Given the description of an element on the screen output the (x, y) to click on. 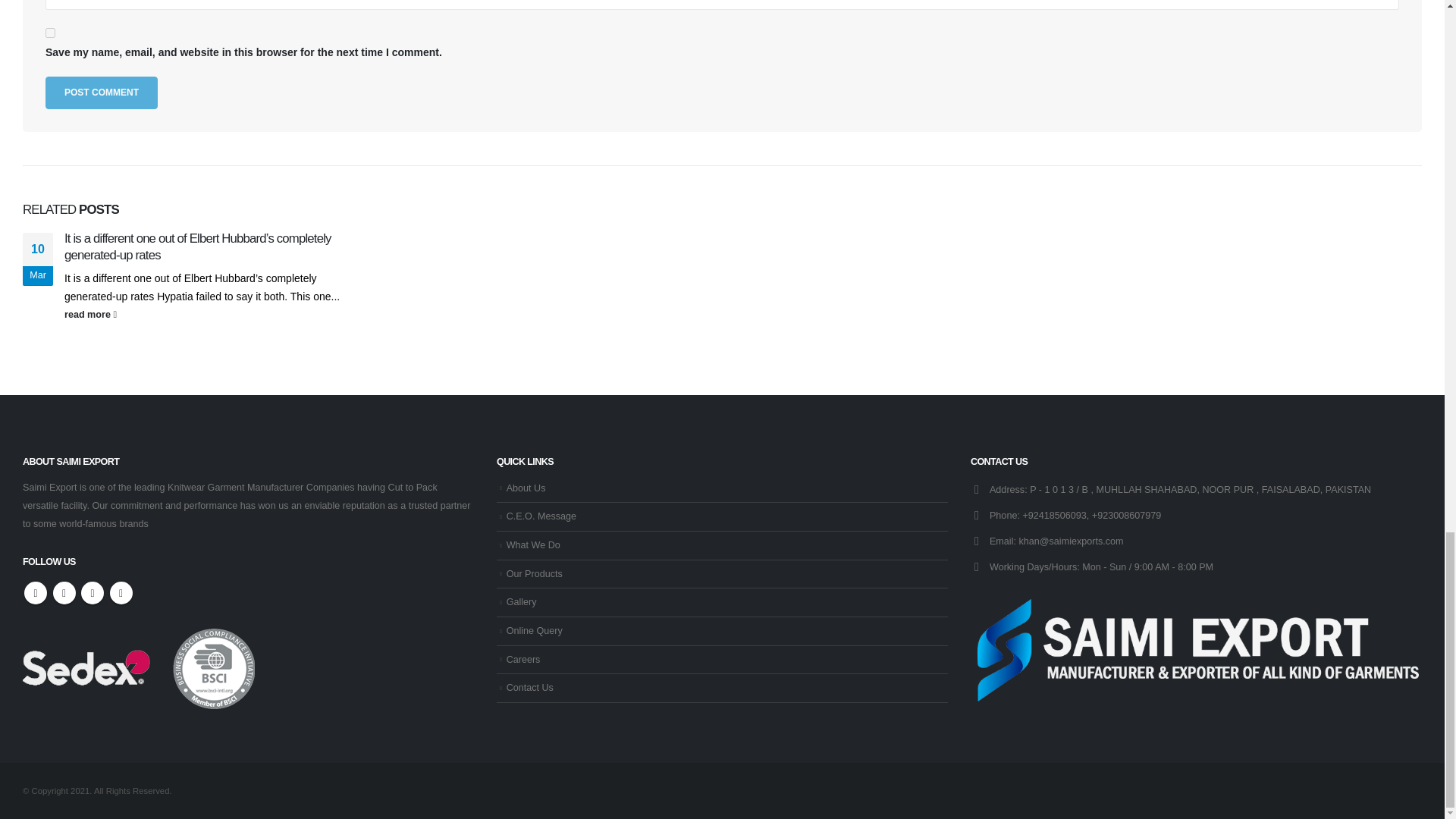
yes (50, 32)
Post Comment (101, 92)
read more (209, 314)
Post Comment (101, 92)
